Given the description of an element on the screen output the (x, y) to click on. 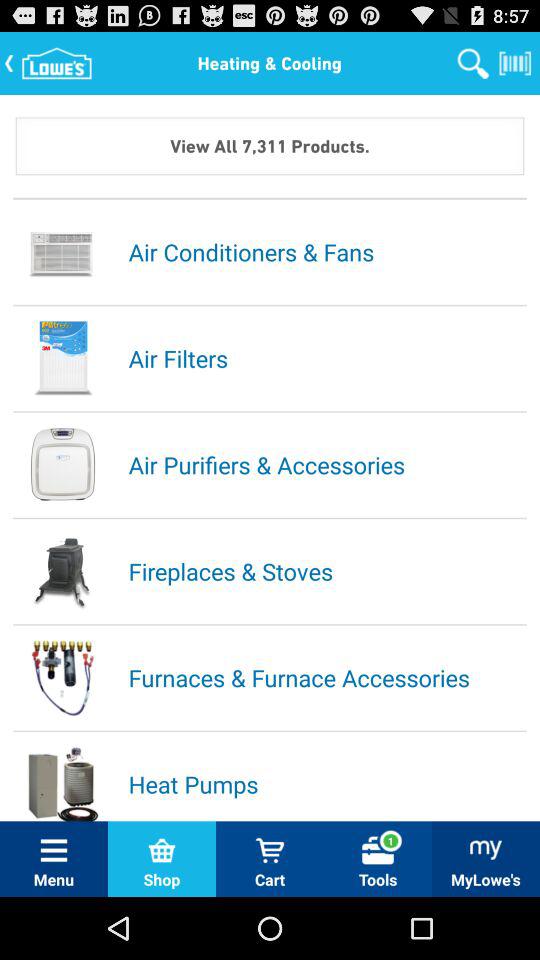
flip until view all 7 (269, 145)
